Given the description of an element on the screen output the (x, y) to click on. 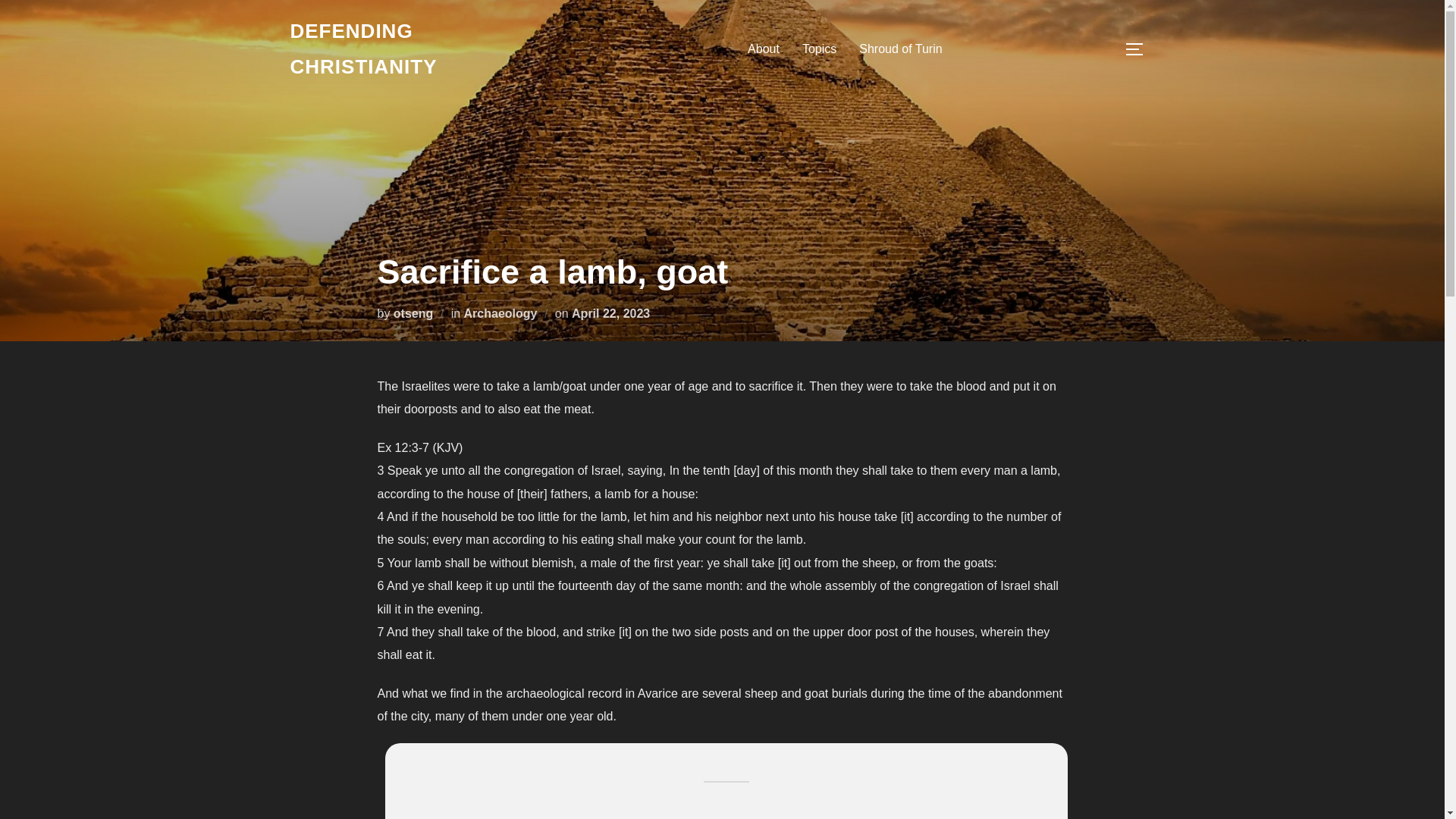
Shroud of Turin (900, 49)
Topics (818, 49)
DEFENDING CHRISTIANITY (421, 49)
otseng (412, 312)
April 22, 2023 (610, 312)
About (763, 49)
Archaeology (500, 312)
